Given the description of an element on the screen output the (x, y) to click on. 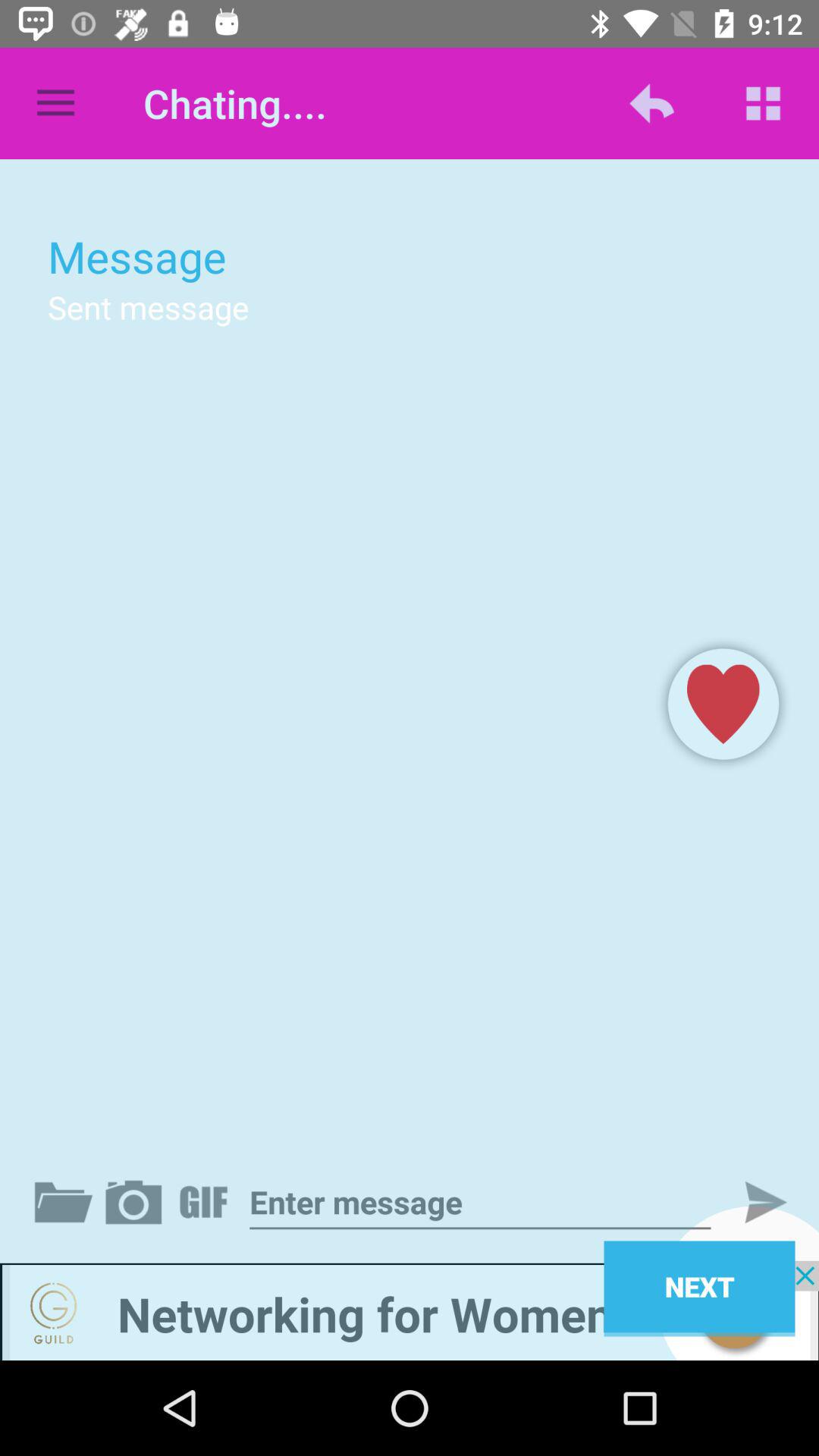
send button (752, 1202)
